Given the description of an element on the screen output the (x, y) to click on. 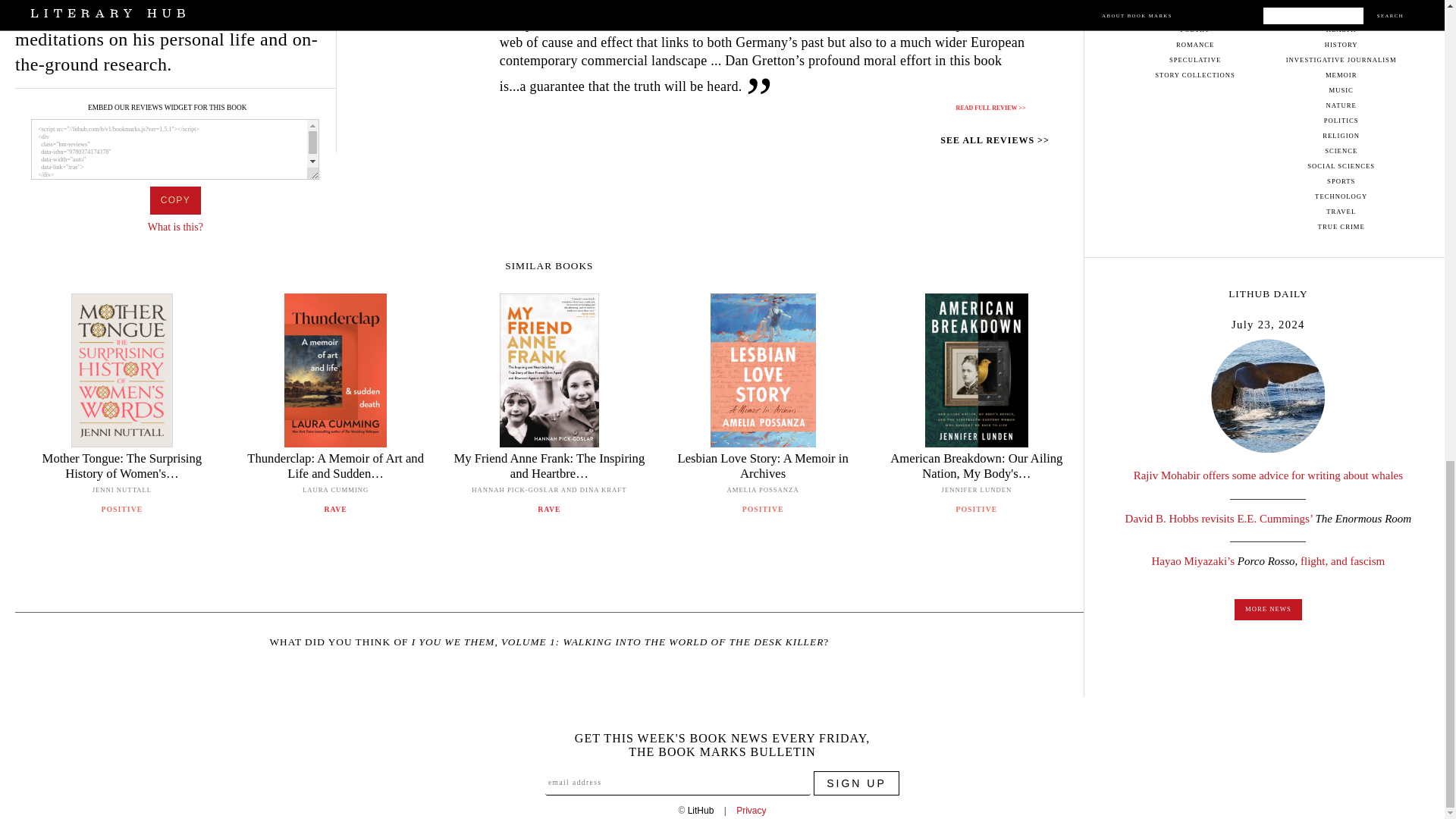
What is this? (175, 226)
Copy (174, 200)
Sign Up (856, 783)
